Given the description of an element on the screen output the (x, y) to click on. 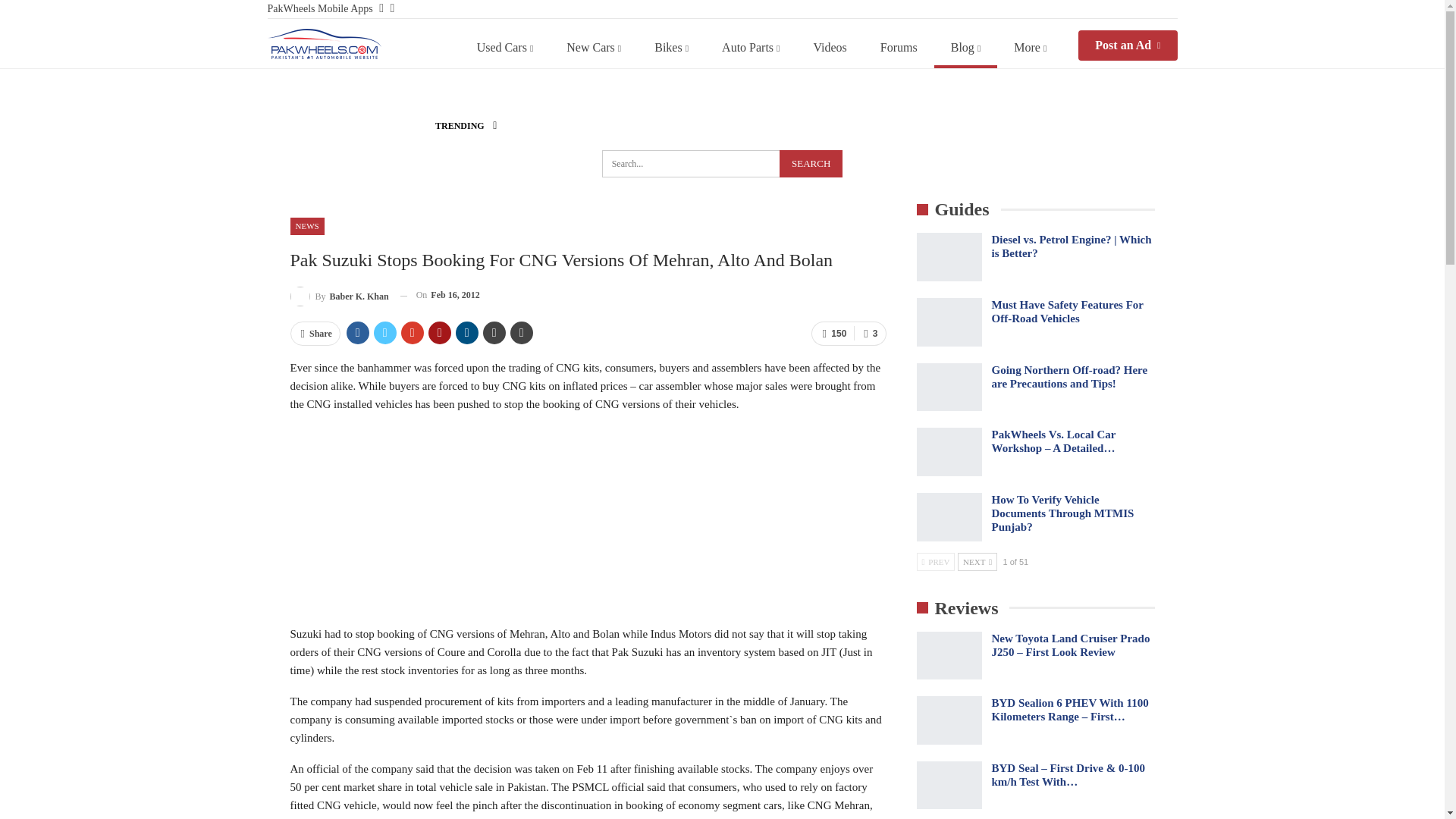
Used Cars (505, 46)
PakWheels Mobile Apps (319, 8)
Auto Parts (750, 46)
Forums (898, 46)
New Cars (593, 46)
Bikes (670, 46)
PakWheels Blog (323, 43)
Blog (965, 46)
Search (810, 163)
Used Cars for sale in Pakistan (505, 46)
